Given the description of an element on the screen output the (x, y) to click on. 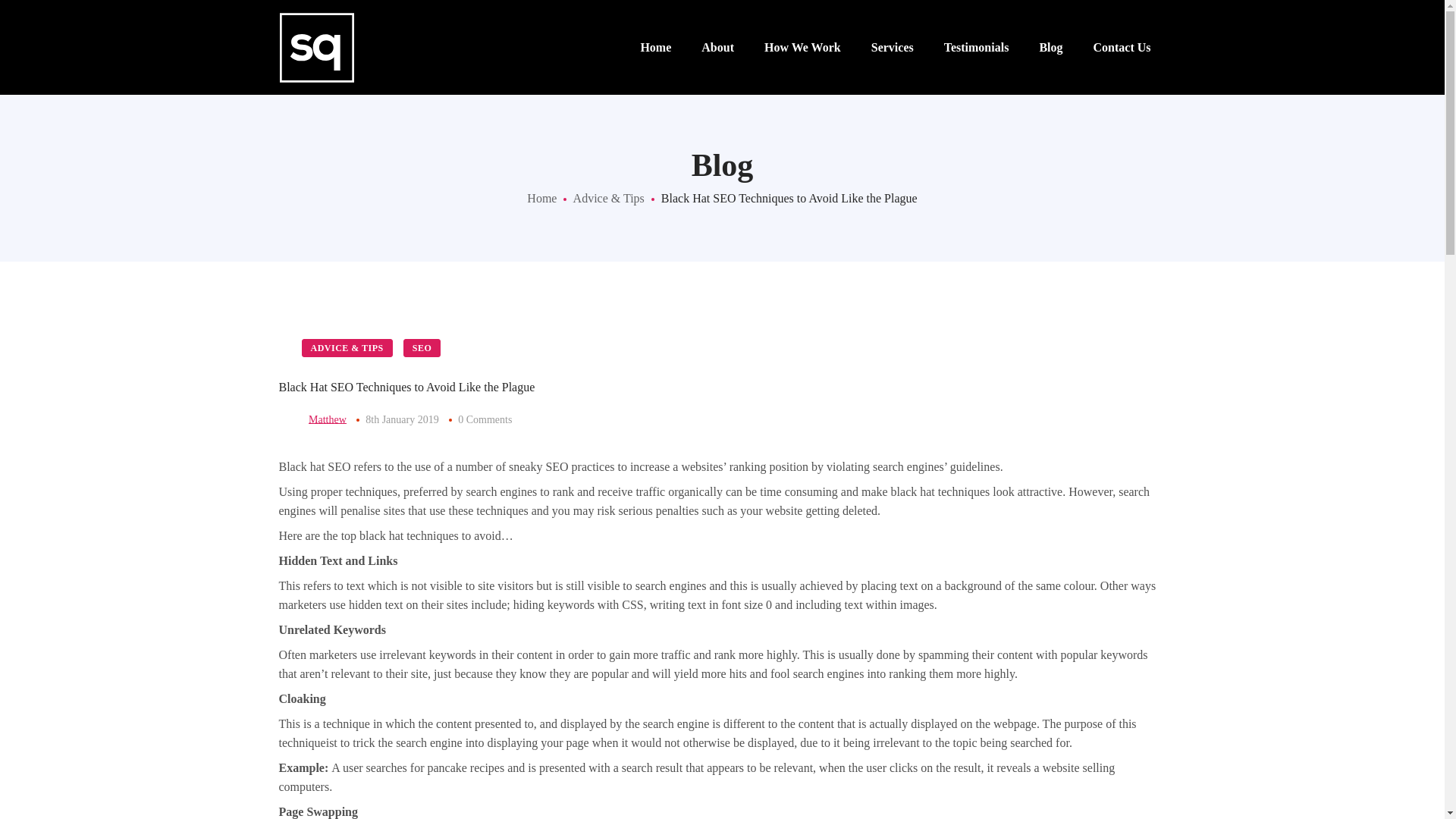
SEO (422, 348)
Testimonials (976, 47)
Contact Us (1122, 47)
0 Comments (485, 419)
How We Work (802, 47)
Home (541, 197)
Matthew (327, 419)
